Given the description of an element on the screen output the (x, y) to click on. 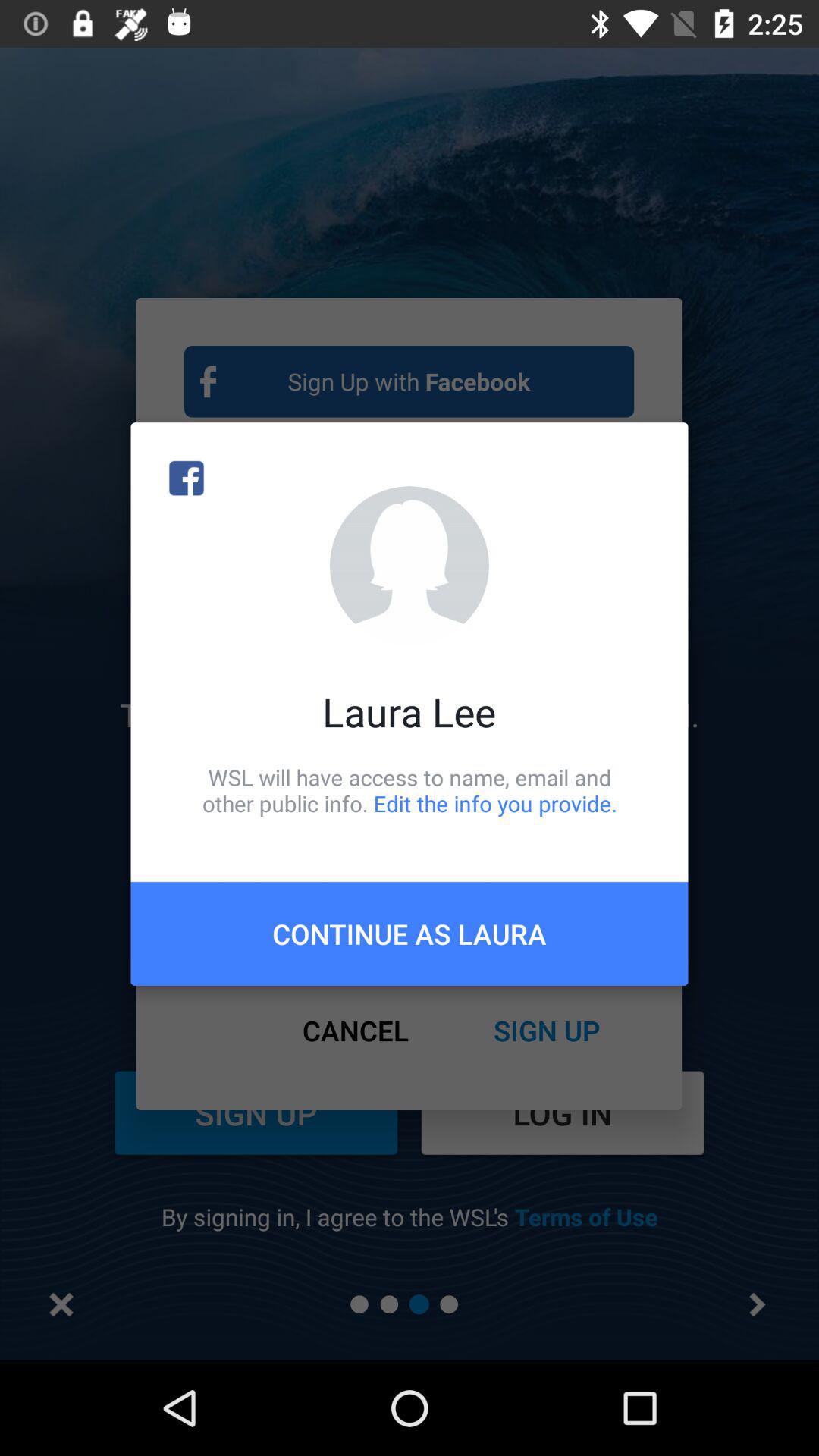
turn on the item above the continue as laura (409, 790)
